Given the description of an element on the screen output the (x, y) to click on. 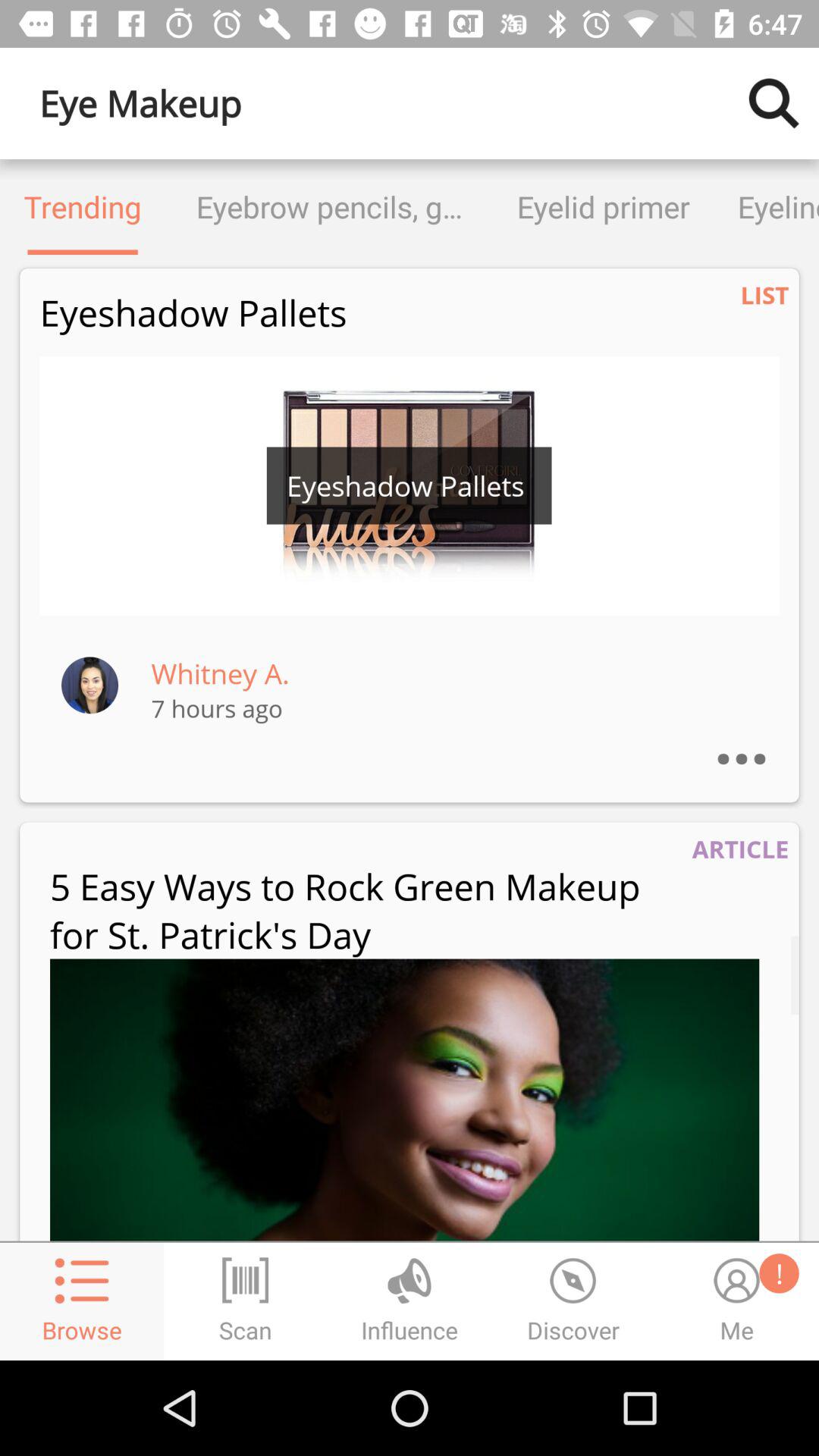
turn off icon next to the eyeliner item (603, 206)
